Given the description of an element on the screen output the (x, y) to click on. 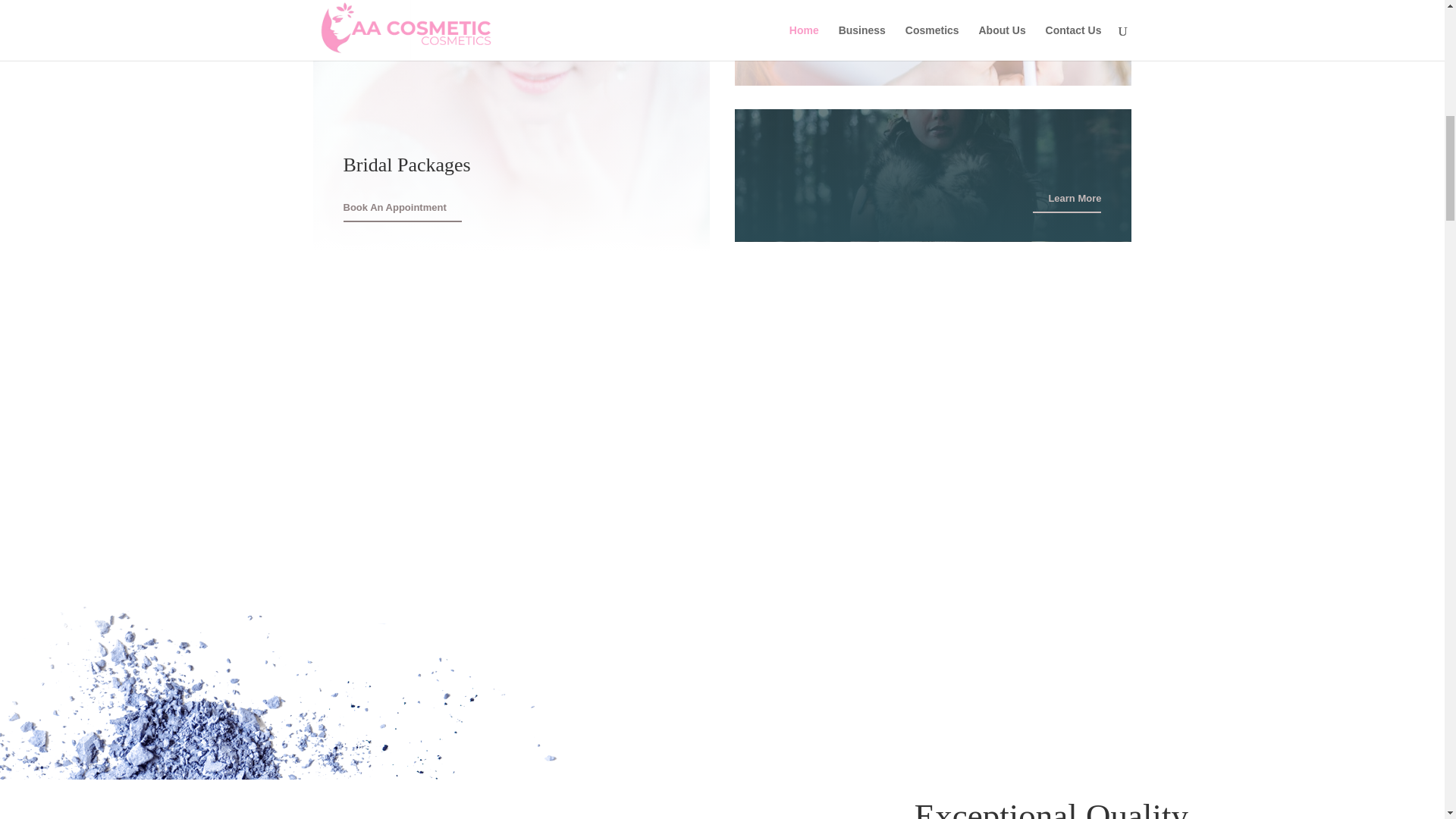
Learn More (1066, 200)
Book An Appointment (401, 209)
Learn More (1066, 44)
